Given the description of an element on the screen output the (x, y) to click on. 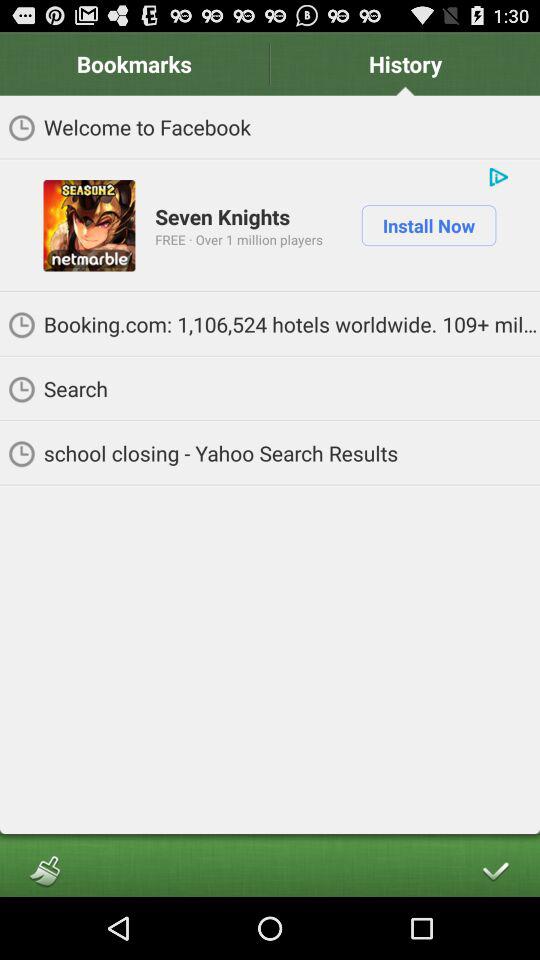
open app below welcome to facebook (89, 225)
